Given the description of an element on the screen output the (x, y) to click on. 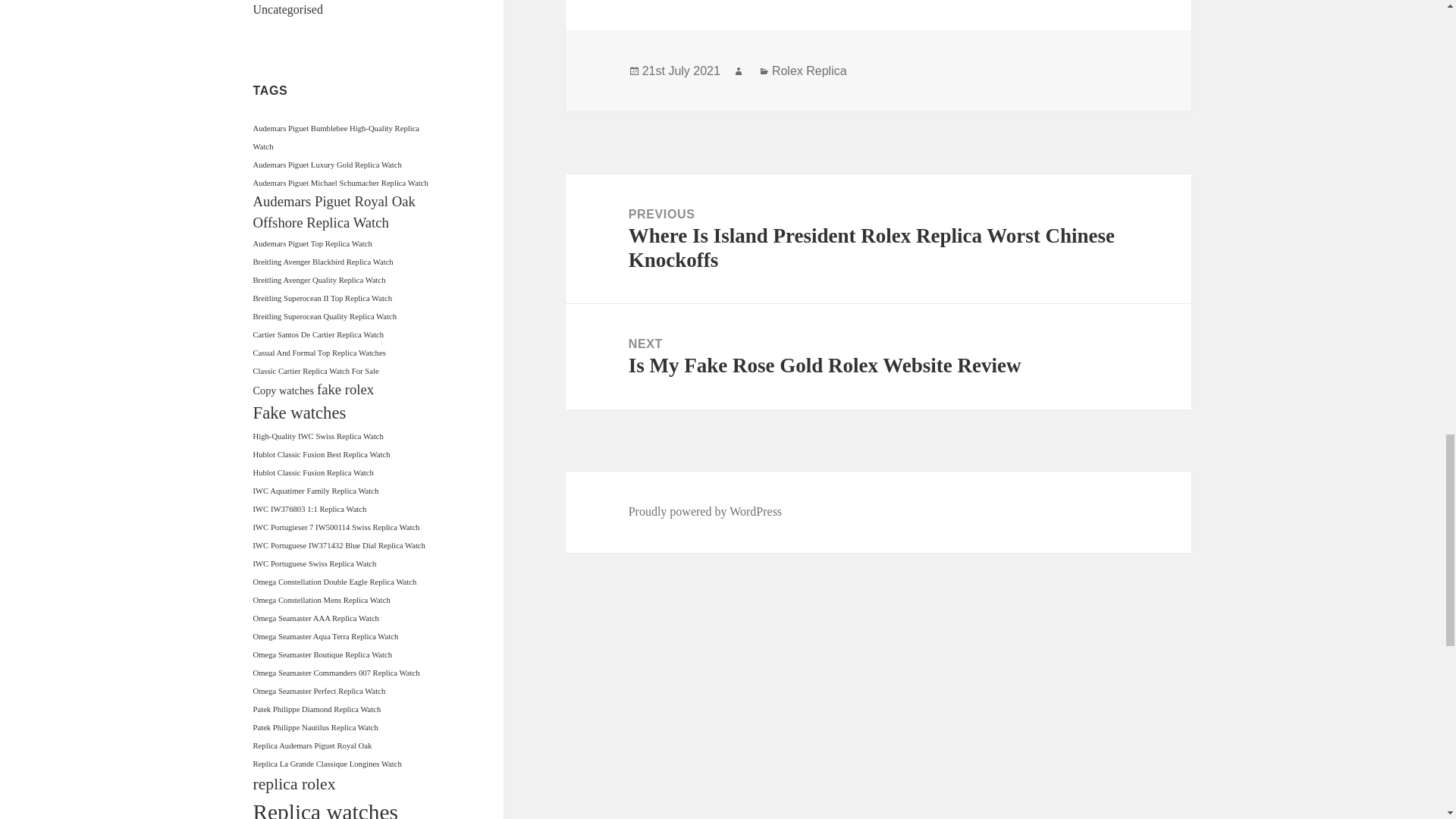
Audemars Piguet Michael Schumacher Replica Watch (340, 183)
Audemars Piguet Luxury Gold Replica Watch (327, 164)
Breitling Avenger Blackbird Replica Watch (323, 261)
Audemars Piguet Bumblebee High-Quality Replica Watch (336, 137)
Breitling Superocean II Top Replica Watch (323, 298)
Classic Cartier Replica Watch For Sale (315, 370)
Audemars Piguet Royal Oak Offshore Replica Watch (333, 211)
Uncategorised (288, 9)
Breitling Superocean Quality Replica Watch (325, 316)
Audemars Piguet Top Replica Watch (312, 243)
Casual And Formal Top Replica Watches (319, 352)
Breitling Avenger Quality Replica Watch (319, 280)
Cartier Santos De Cartier Replica Watch (318, 334)
